Given the description of an element on the screen output the (x, y) to click on. 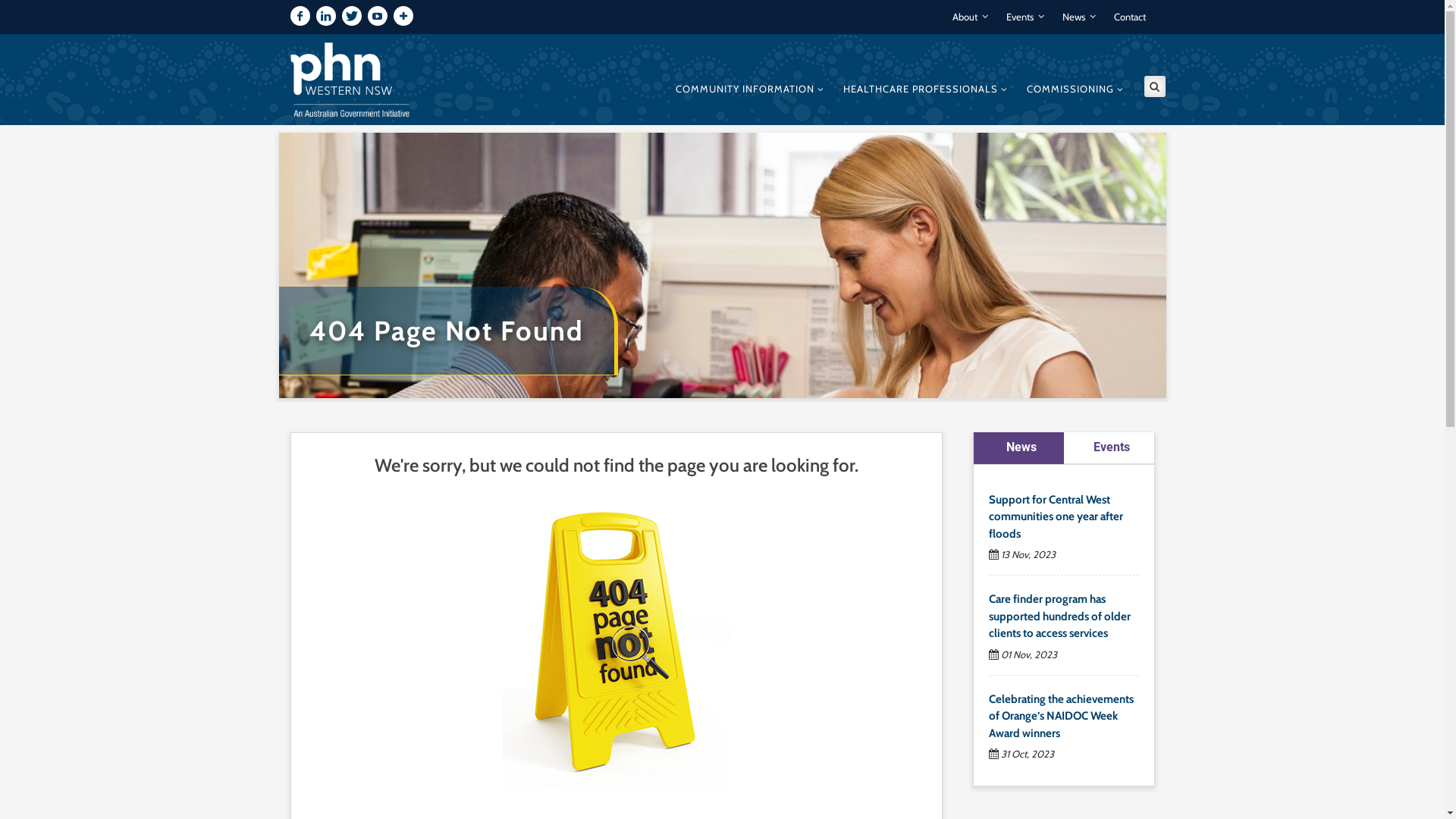
News   Element type: text (1078, 16)
Support for Central West communities one year after floods Element type: text (1055, 516)
Events   Element type: text (1024, 16)
  News Element type: text (1018, 447)
COMMUNITY INFORMATION Element type: text (748, 87)
COMMISSIONING Element type: text (1074, 87)
About   Element type: text (970, 16)
Contact Element type: text (1129, 16)
HEALTHCARE PROFESSIONALS Element type: text (925, 87)
  Events Element type: text (1108, 447)
